Given the description of an element on the screen output the (x, y) to click on. 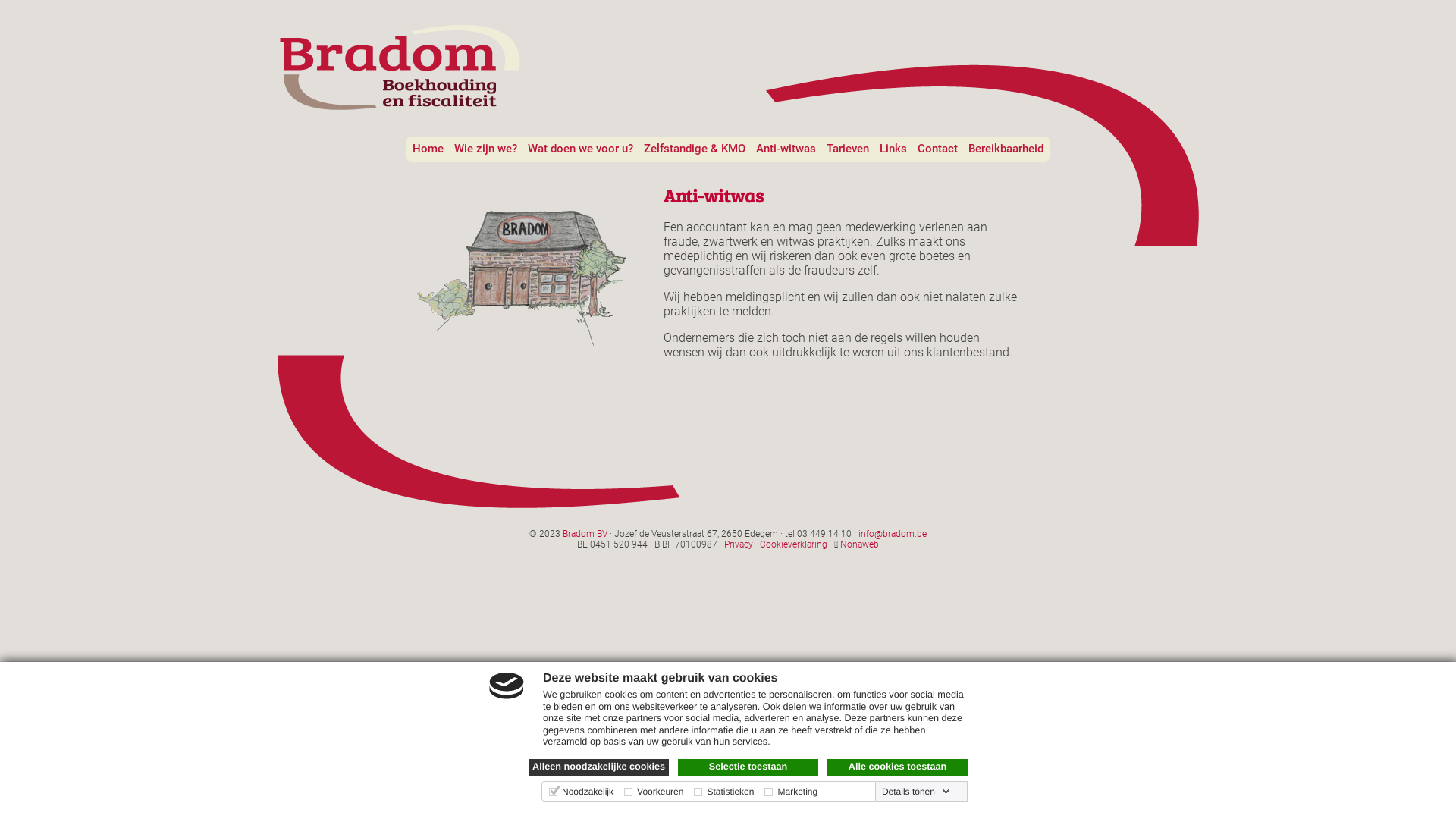
Tarieven Element type: text (847, 148)
Zelfstandige & KMO Element type: text (694, 148)
info@bradom.be Element type: text (892, 533)
Selectie toestaan Element type: text (747, 767)
Alleen noodzakelijke cookies Element type: text (598, 767)
Anti-witwas Element type: text (785, 148)
Links Element type: text (892, 148)
Cookieverklaring Element type: text (793, 544)
Home Element type: text (427, 148)
Wat doen we voor u? Element type: text (580, 148)
Alle cookies toestaan Element type: text (897, 767)
Wie zijn we? Element type: text (485, 148)
Bereikbaarheid Element type: text (1005, 148)
Details tonen Element type: text (915, 791)
Nonaweb Element type: text (859, 544)
Privacy Element type: text (738, 544)
Contact Element type: text (937, 148)
Bradom BV Element type: text (584, 533)
